Given the description of an element on the screen output the (x, y) to click on. 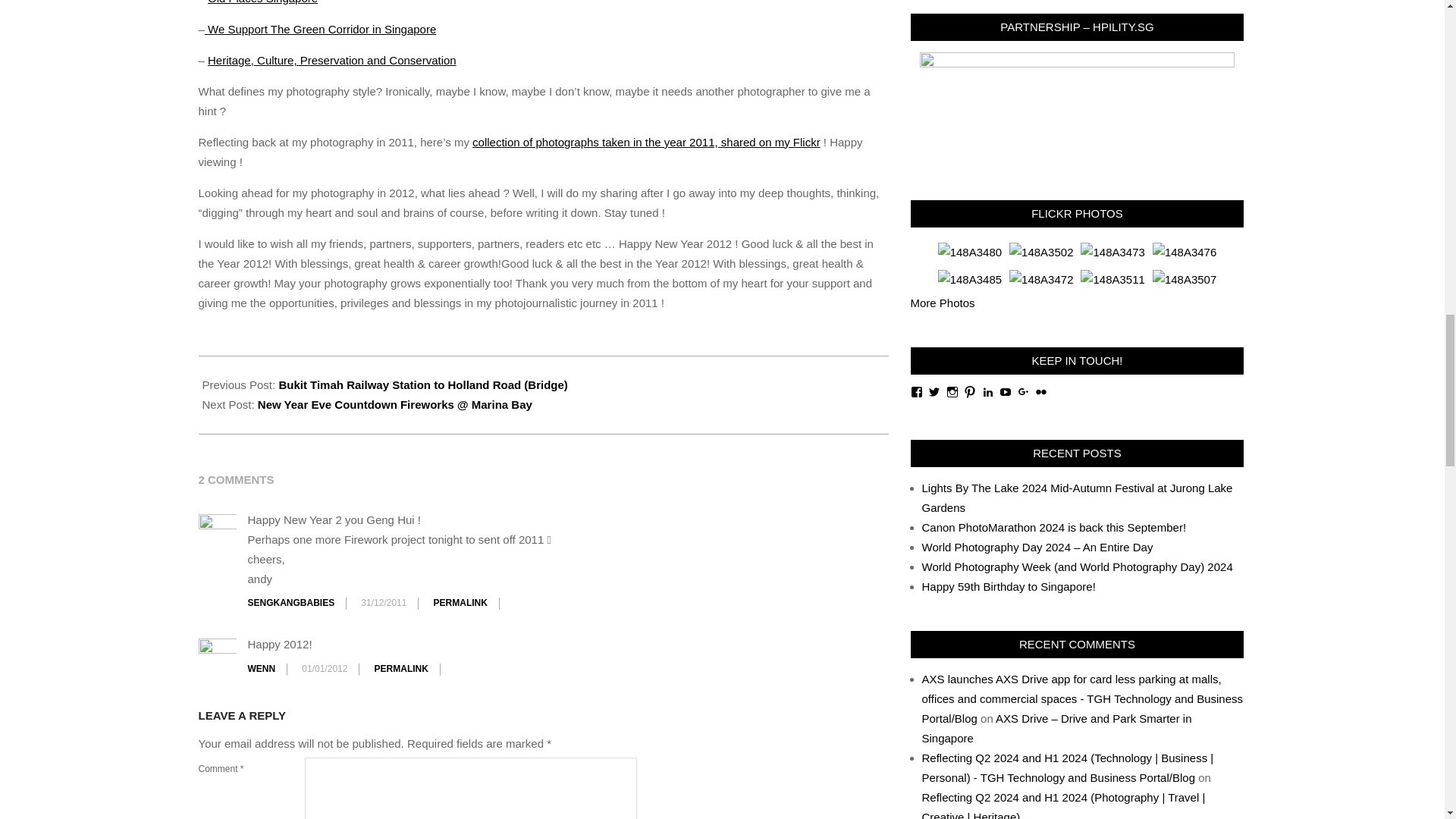
WENN (261, 668)
SENGKANGBABIES (290, 602)
Old Places Singapore (262, 2)
We Support The Green Corridor in Singapore (320, 29)
PERMALINK (401, 668)
PERMALINK (460, 602)
Heritage, Culture, Preservation and Conservation (332, 60)
